Given the description of an element on the screen output the (x, y) to click on. 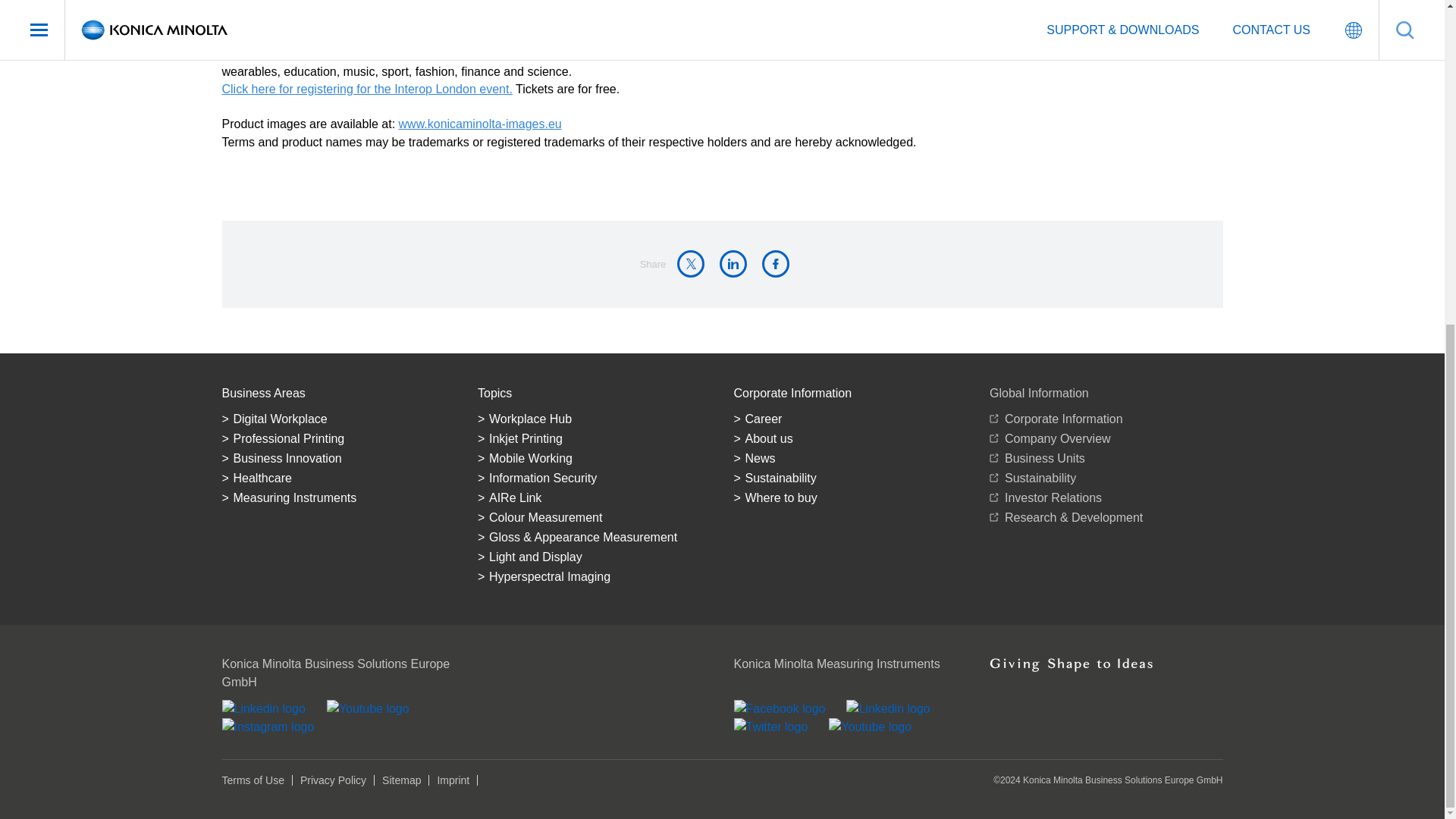
Light and Display (594, 557)
Career (850, 419)
AIRe Link (594, 497)
Mobile Working (594, 458)
Sustainability (850, 478)
Business Innovation (337, 458)
Digital Workplace (337, 419)
Information Security (594, 478)
Hyperspectral Imaging (594, 577)
Professional Printing (337, 438)
Workplace Hub (594, 419)
Colour Measurement (594, 517)
Healthcare (337, 478)
Measuring Instruments (337, 497)
News (850, 458)
